Given the description of an element on the screen output the (x, y) to click on. 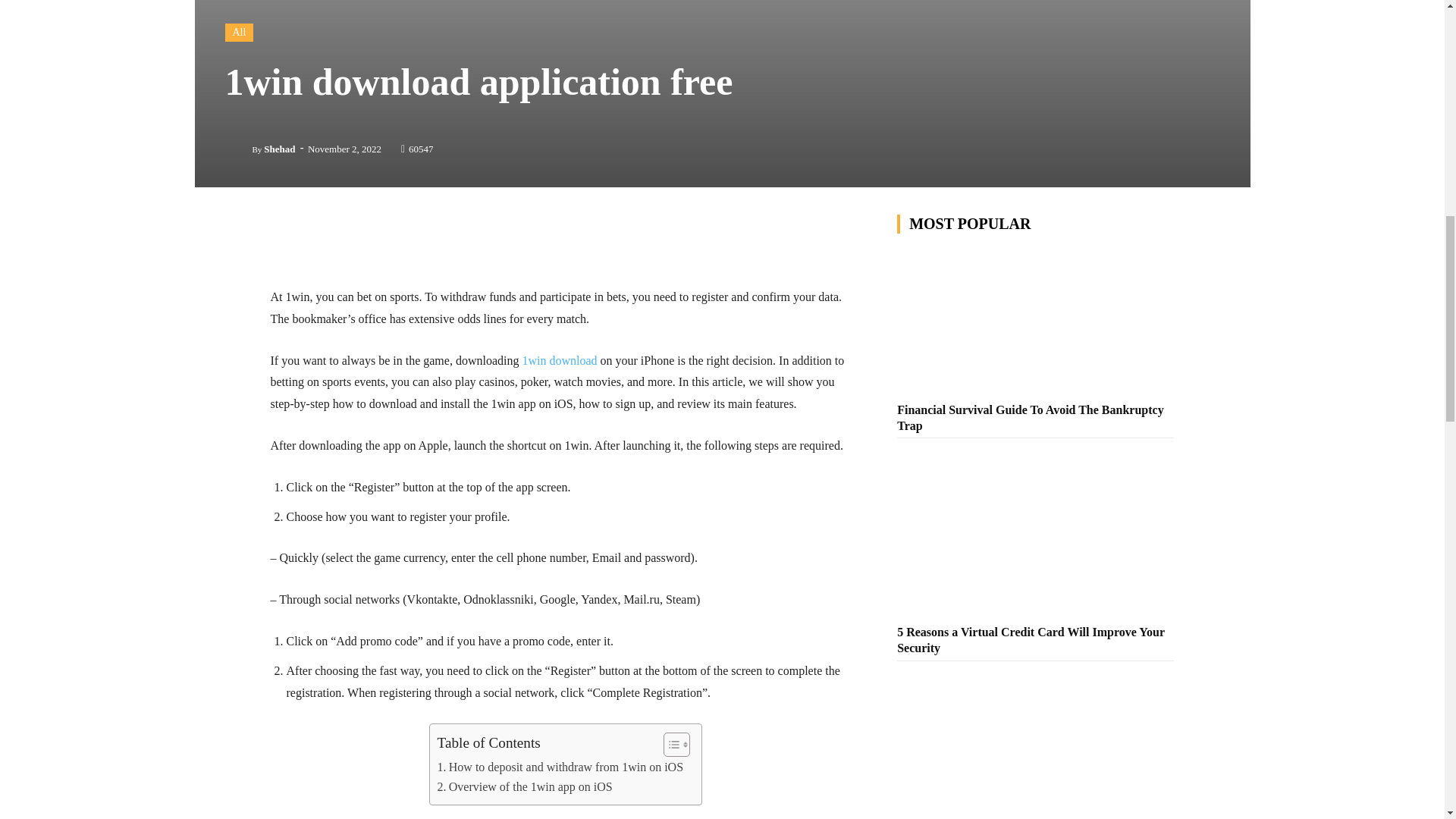
shehad (237, 149)
Shehad (279, 149)
All (238, 32)
